Given the description of an element on the screen output the (x, y) to click on. 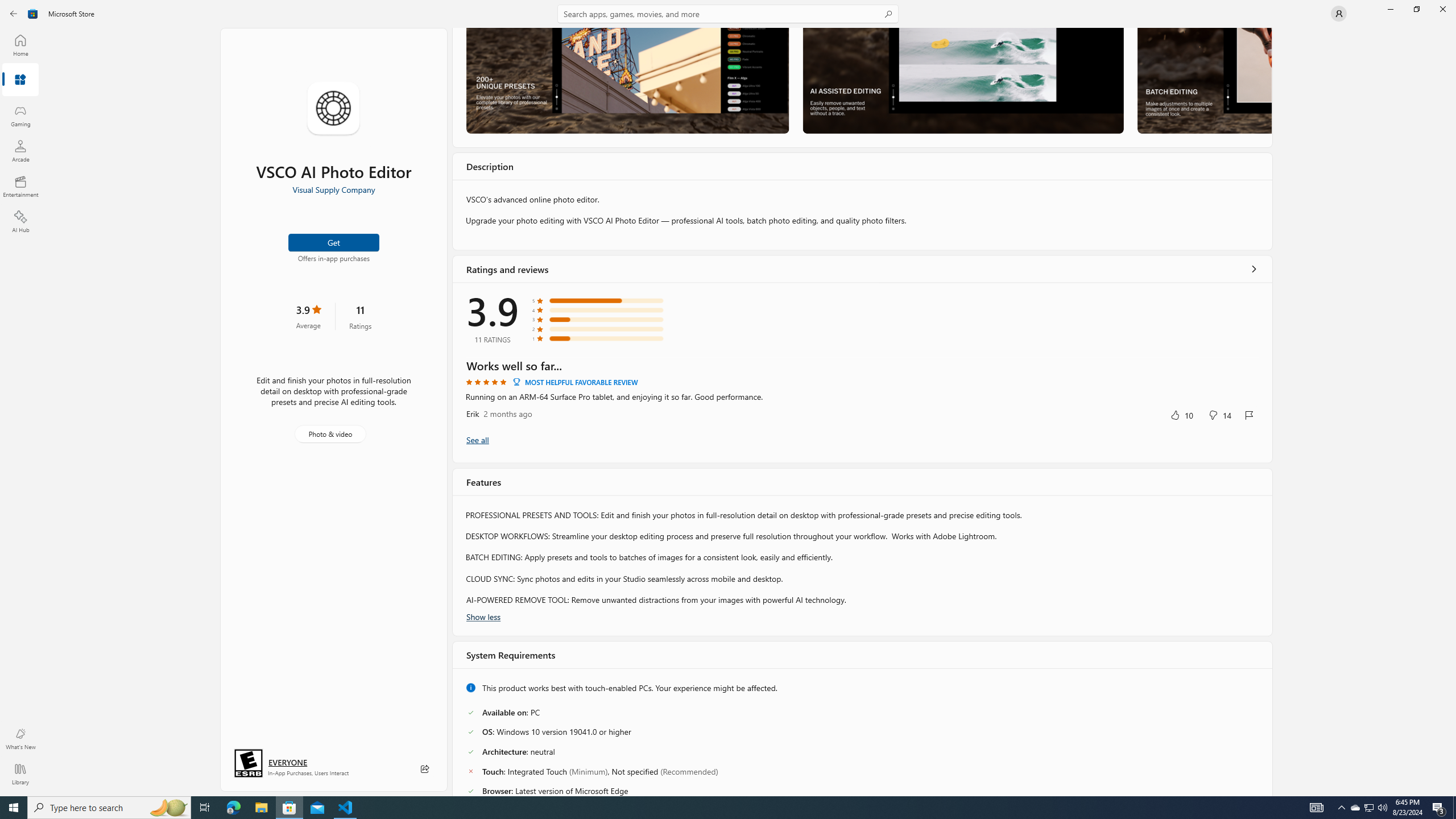
Back (13, 13)
Screenshot 2 (962, 80)
Search (727, 13)
Show all ratings and reviews (1253, 268)
3.9 stars. Click to skip to ratings and reviews (307, 315)
Show all ratings and reviews (477, 439)
Share (424, 769)
Photo & video (329, 434)
Show less (482, 616)
Screenshot 3 (1204, 80)
